Given the description of an element on the screen output the (x, y) to click on. 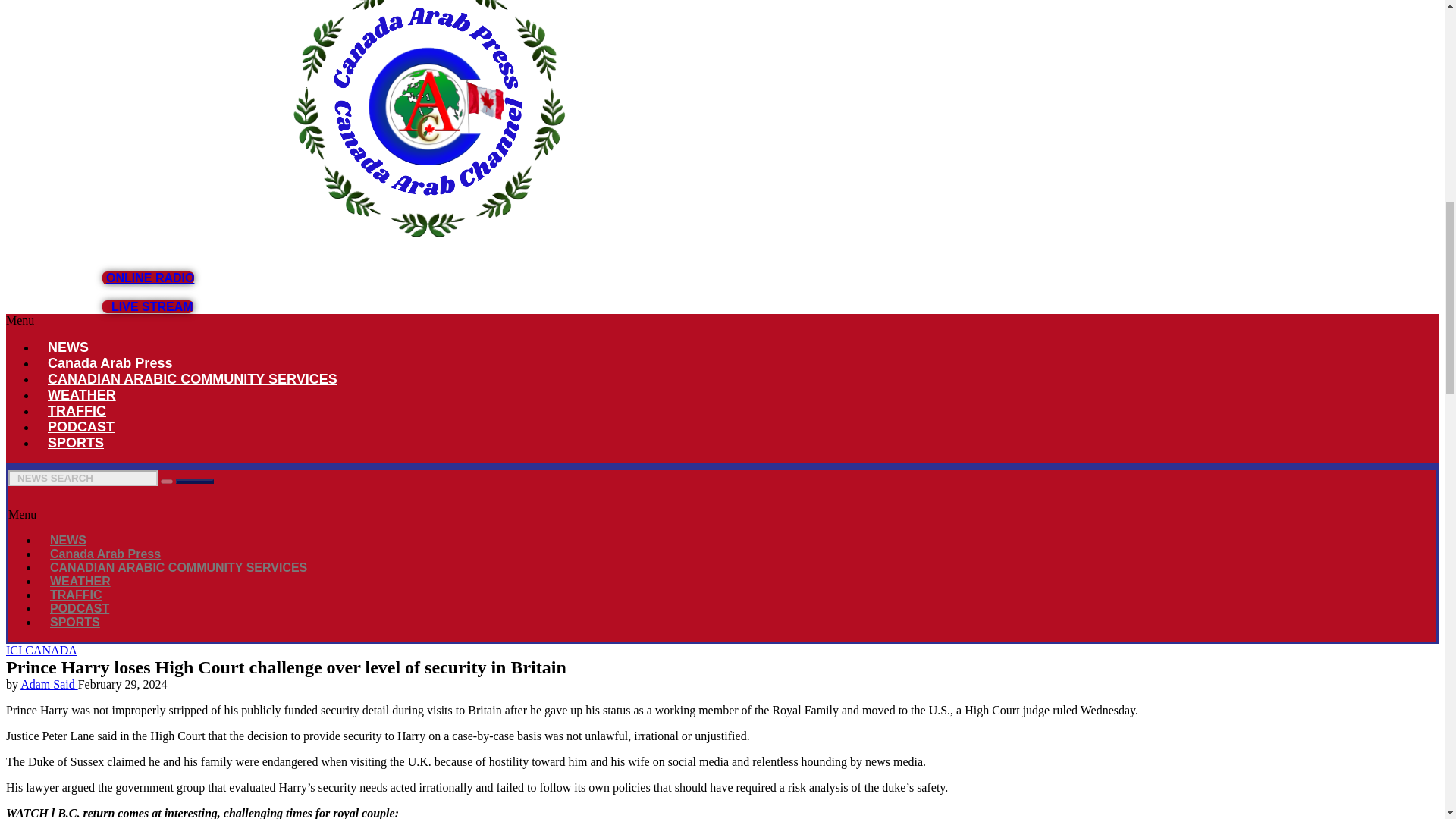
Canada Arab Press (109, 362)
NEWS (68, 539)
PODCAST (80, 426)
TRAFFIC (76, 410)
SPORTS (75, 442)
CANADIAN ARABIC COMMUNITY SERVICES (178, 567)
LIVE STREAM (147, 306)
Canada Arab Press (105, 553)
WEATHER (82, 394)
CANADIAN ARABIC COMMUNITY SERVICES (192, 379)
